Given the description of an element on the screen output the (x, y) to click on. 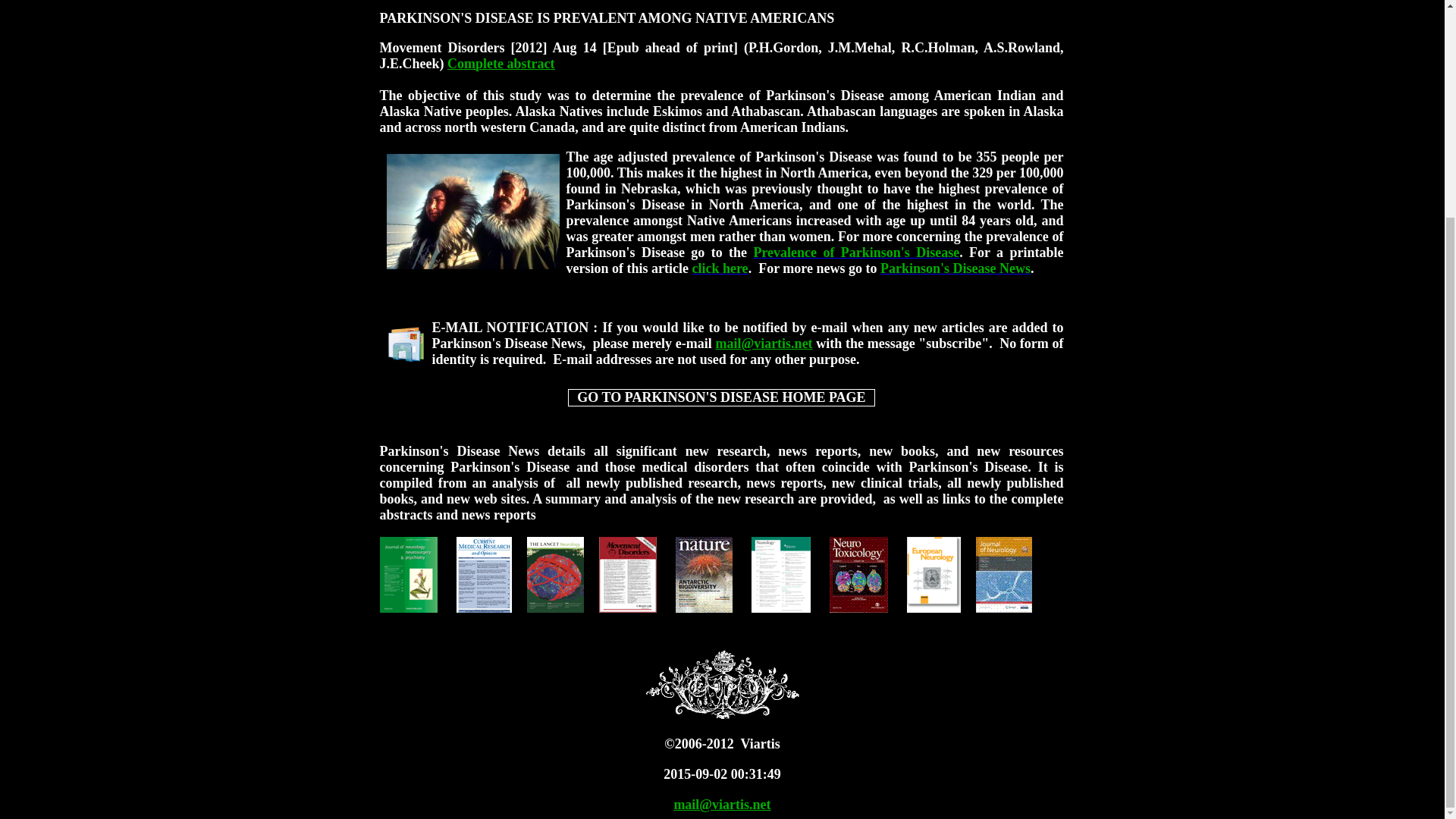
Complete abstract (500, 63)
click here (719, 268)
GO TO PARKINSON'S DISEASE HOME PAGE (720, 396)
Prevalence of Parkinson's Disease (855, 252)
Parkinson's Disease News (955, 268)
